Given the description of an element on the screen output the (x, y) to click on. 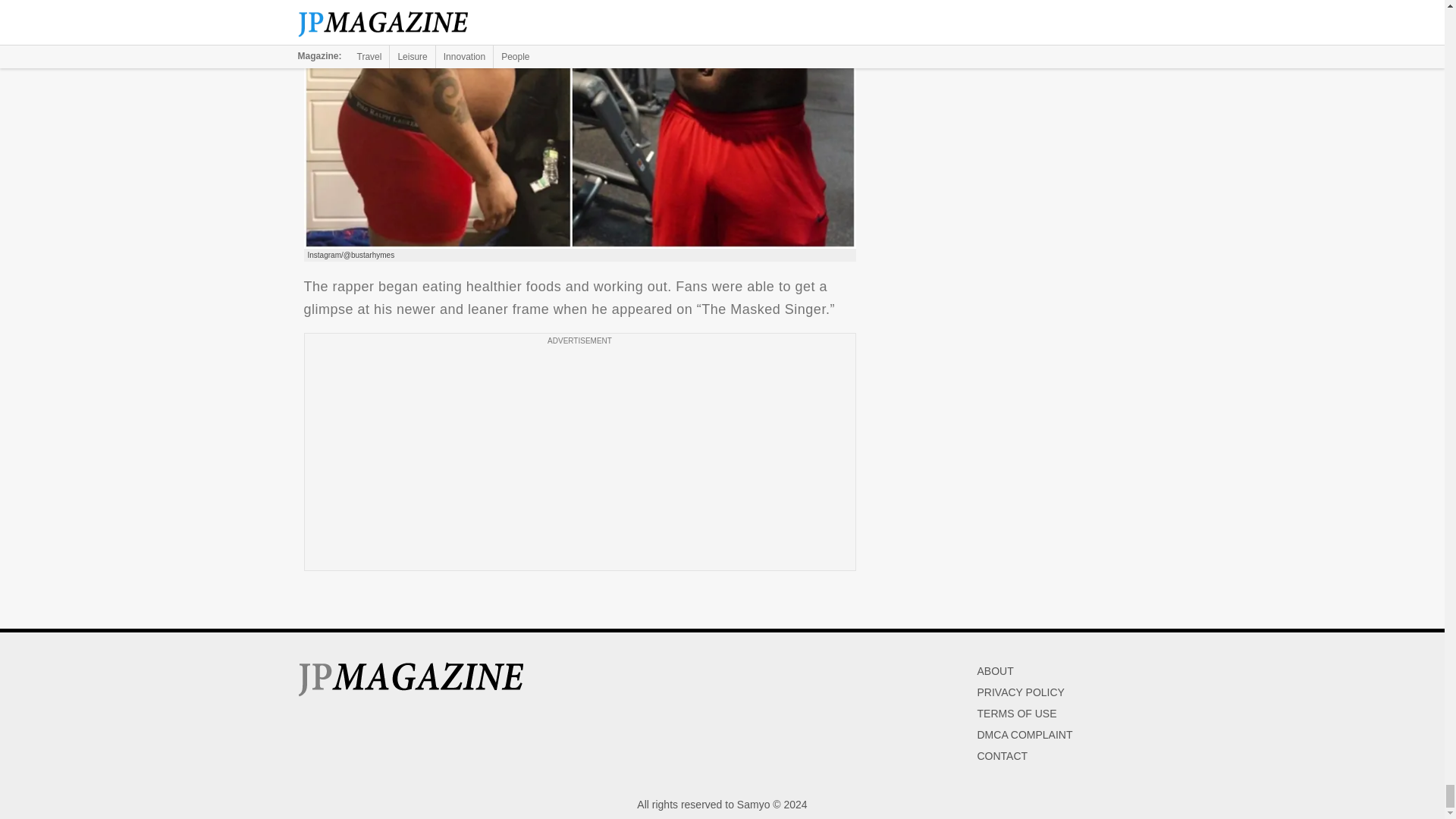
PRIVACY POLICY (1020, 692)
ABOUT (994, 671)
TERMS OF USE (1016, 713)
DMCA COMPLAINT (1023, 734)
CONTACT (1001, 756)
